Given the description of an element on the screen output the (x, y) to click on. 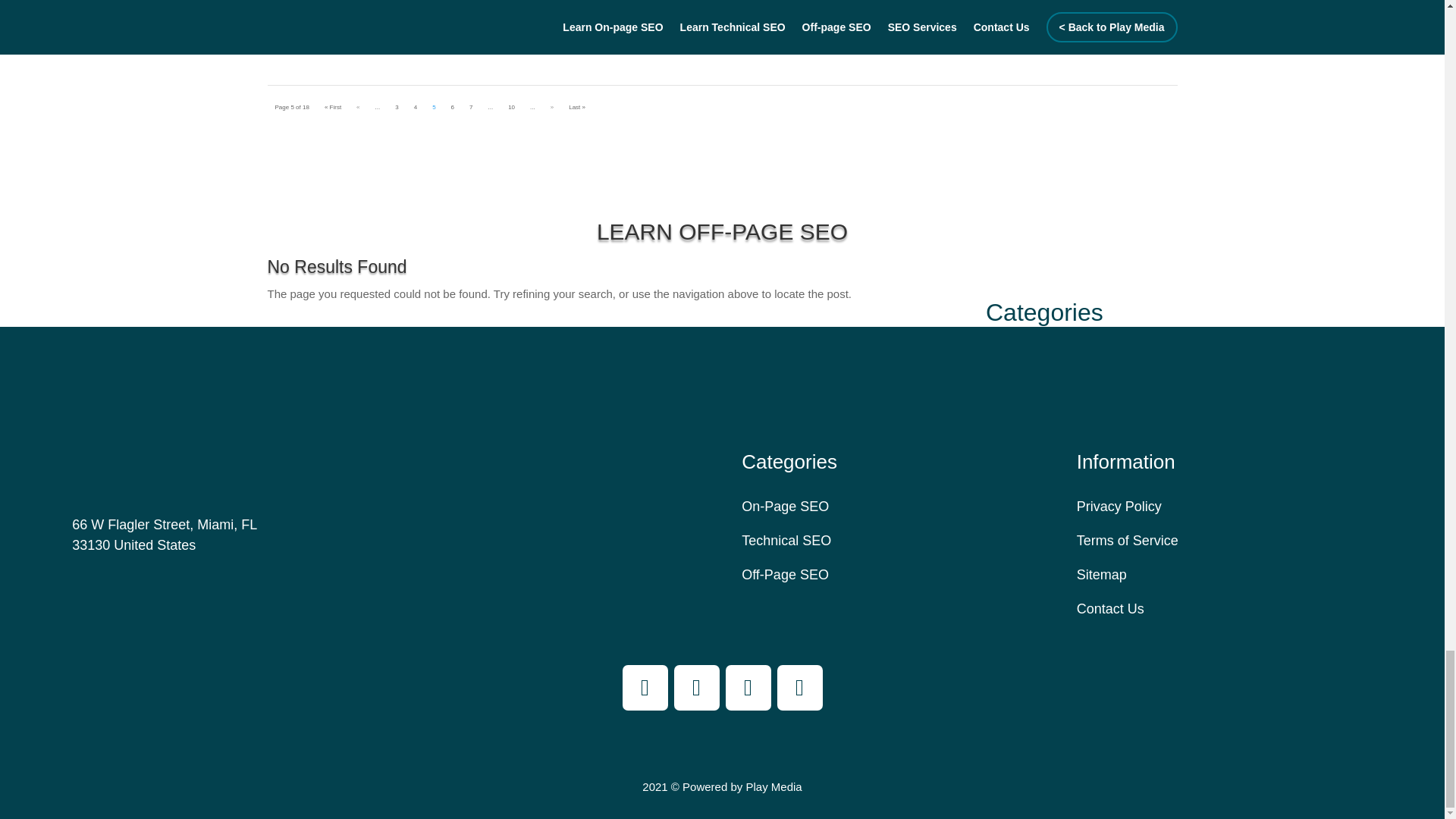
Follow on Instagram (695, 687)
Page 3 (396, 107)
Page 10 (510, 107)
Follow on LinkedIn (799, 687)
Follow on Twitter (747, 687)
Page 4 (415, 107)
Page 6 (452, 107)
Page 7 (470, 107)
PM-Academy-Logo (100, 427)
Follow on Facebook (643, 687)
